Given the description of an element on the screen output the (x, y) to click on. 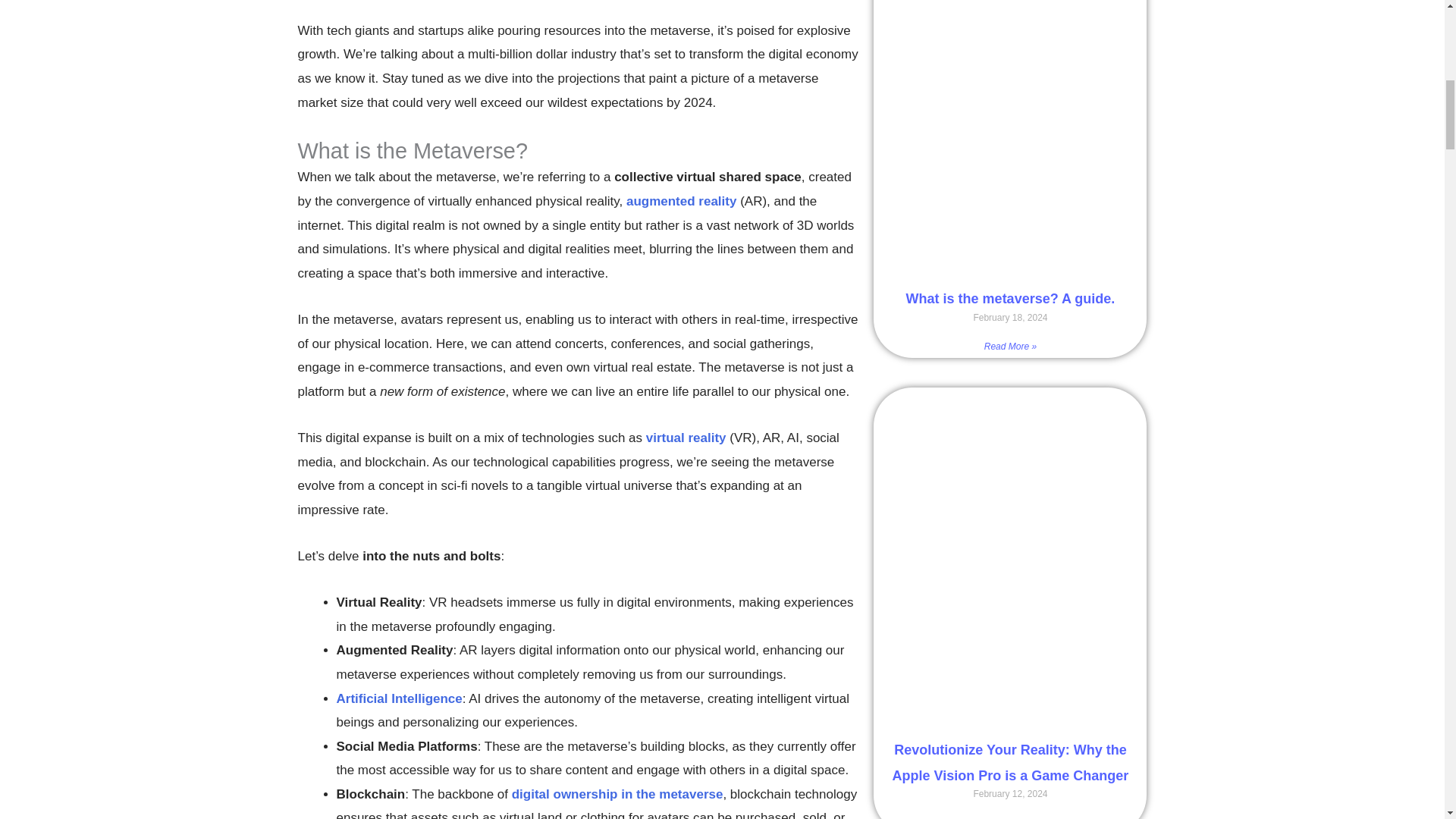
virtual reality (686, 437)
augmented reality (681, 201)
virtual reality (686, 437)
digital ownership in the metaverse (617, 794)
augmented reality (681, 201)
Artificial Intelligence (399, 698)
What is the metaverse? A guide. (1010, 298)
Artificial Intelligence (399, 698)
